Given the description of an element on the screen output the (x, y) to click on. 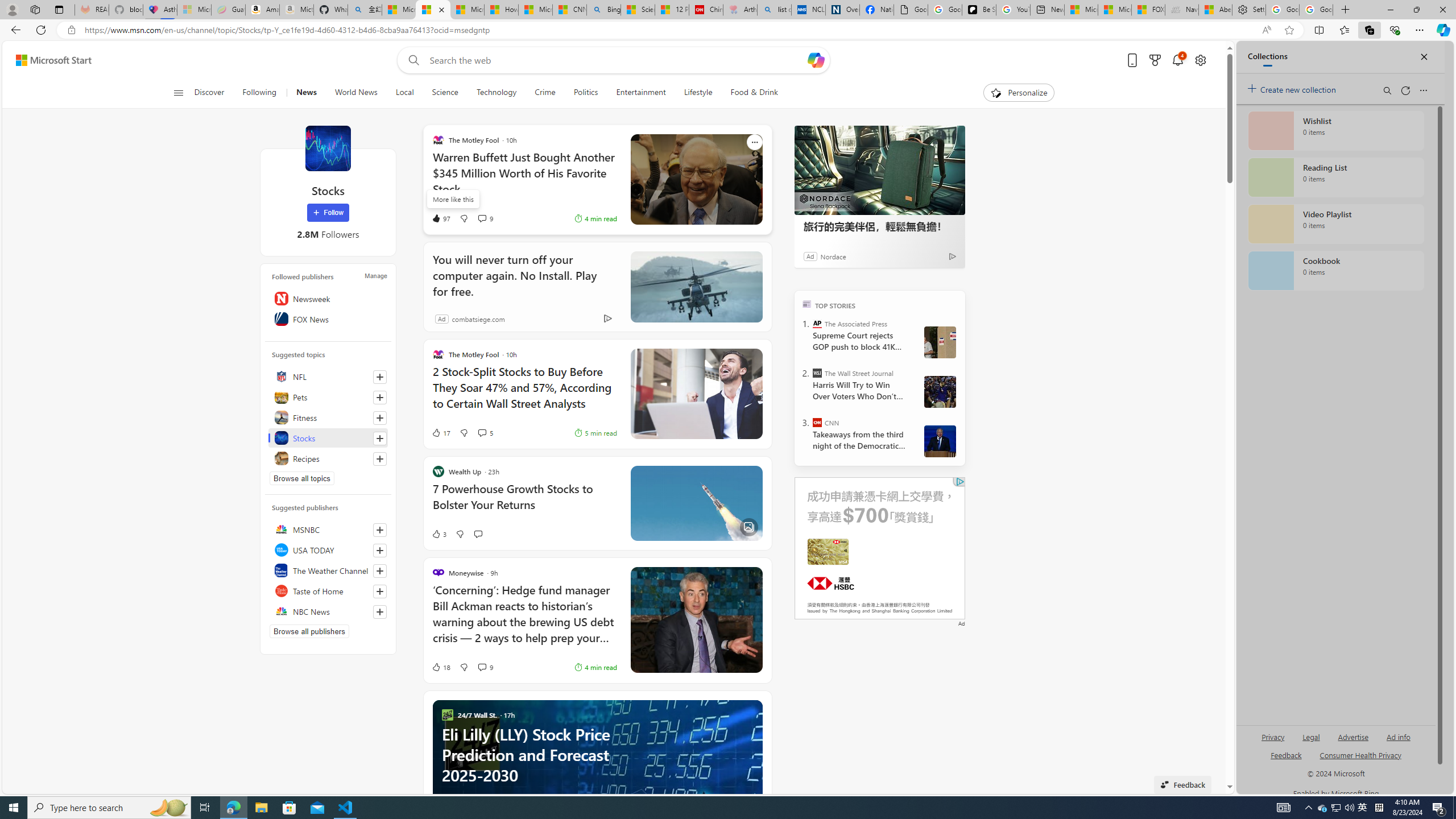
7 Powerhouse Growth Stocks to Bolster Your Returns (524, 502)
Stocks (327, 148)
View comments 5 Comment (485, 432)
Fitness (327, 417)
